Given the description of an element on the screen output the (x, y) to click on. 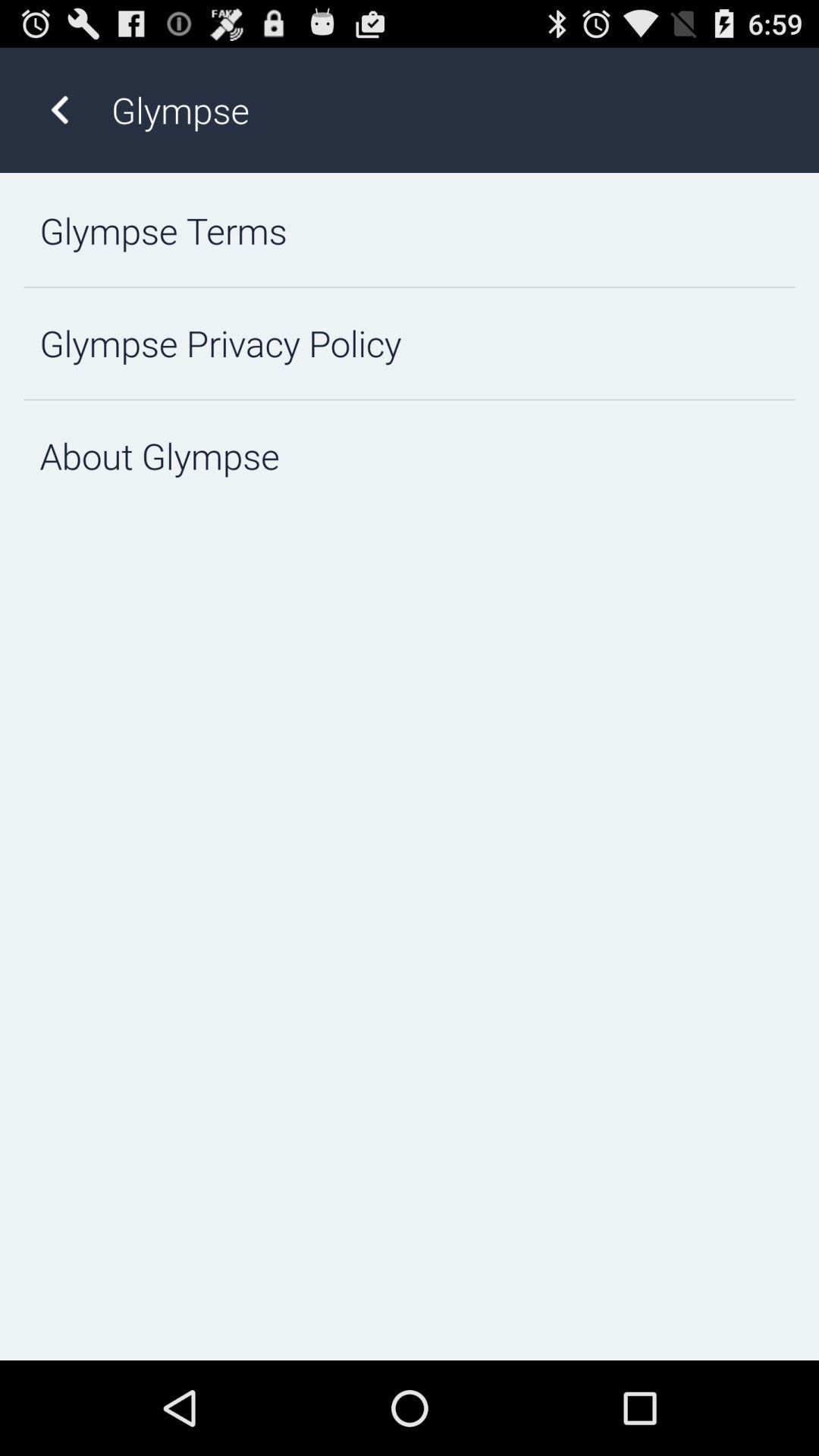
launch the item next to the glympse item (59, 109)
